Given the description of an element on the screen output the (x, y) to click on. 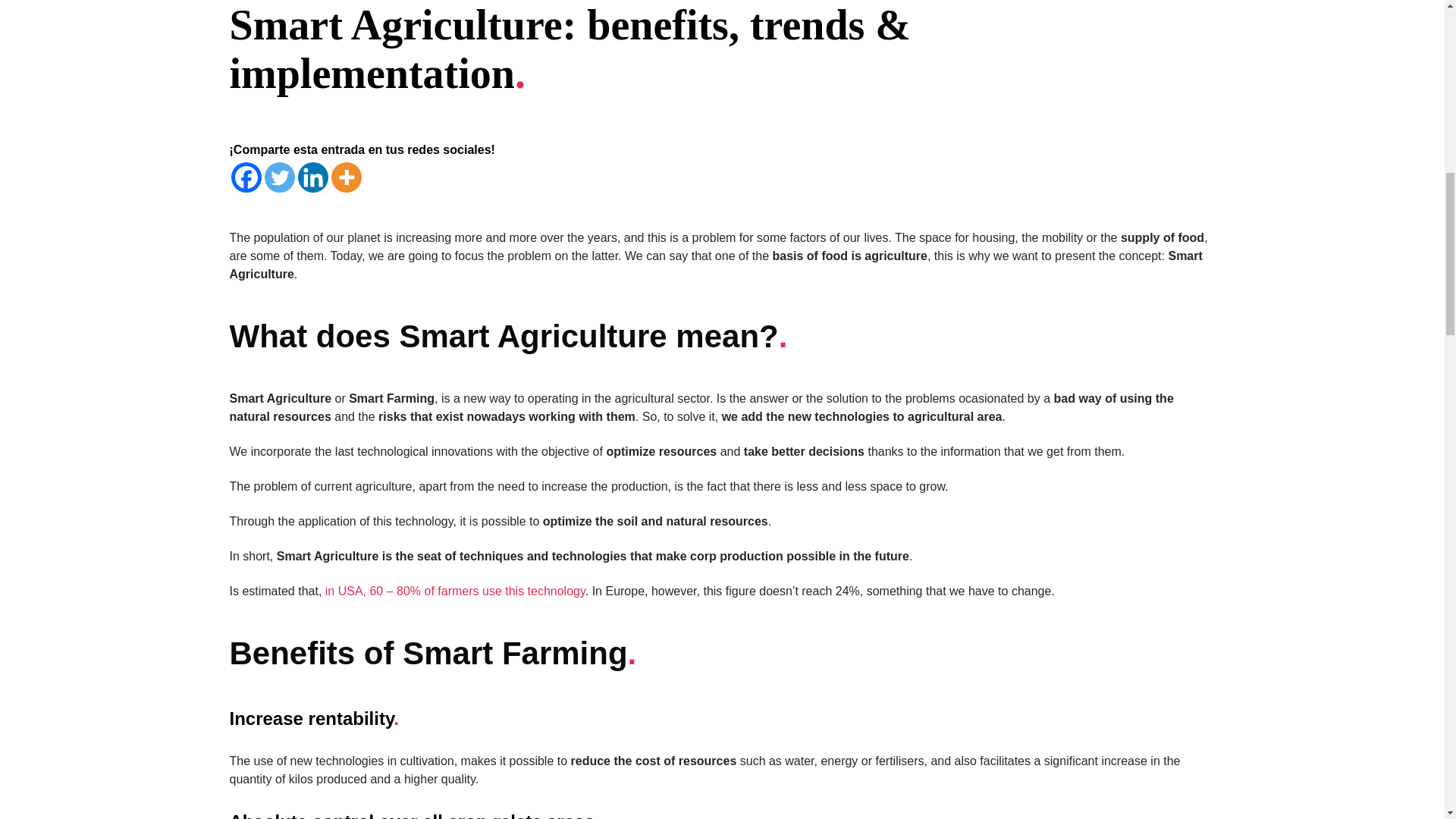
Linkedin (312, 177)
Twitter (278, 177)
More (345, 177)
Facebook (245, 177)
